Given the description of an element on the screen output the (x, y) to click on. 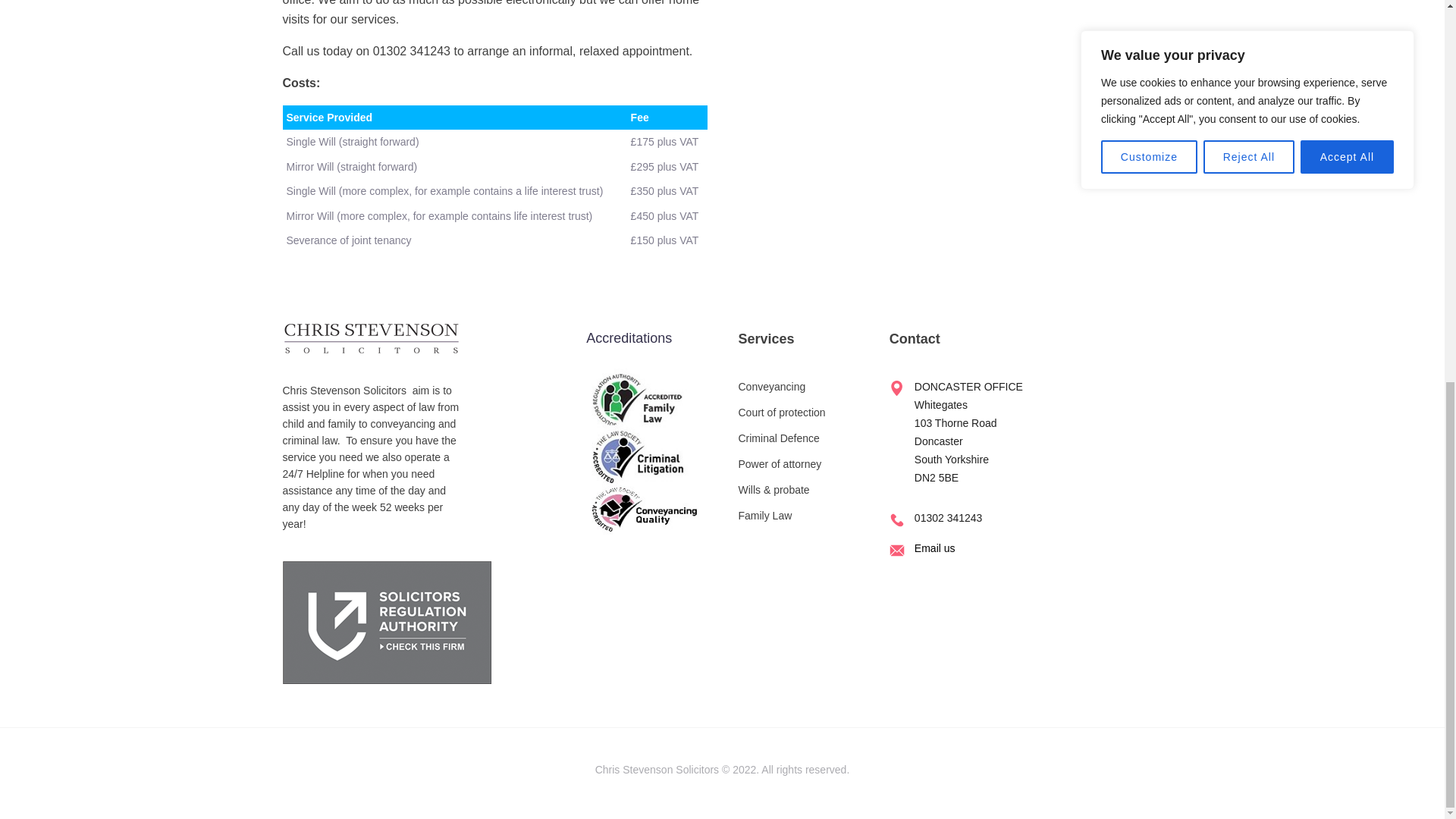
Conveyancing (781, 386)
